Given the description of an element on the screen output the (x, y) to click on. 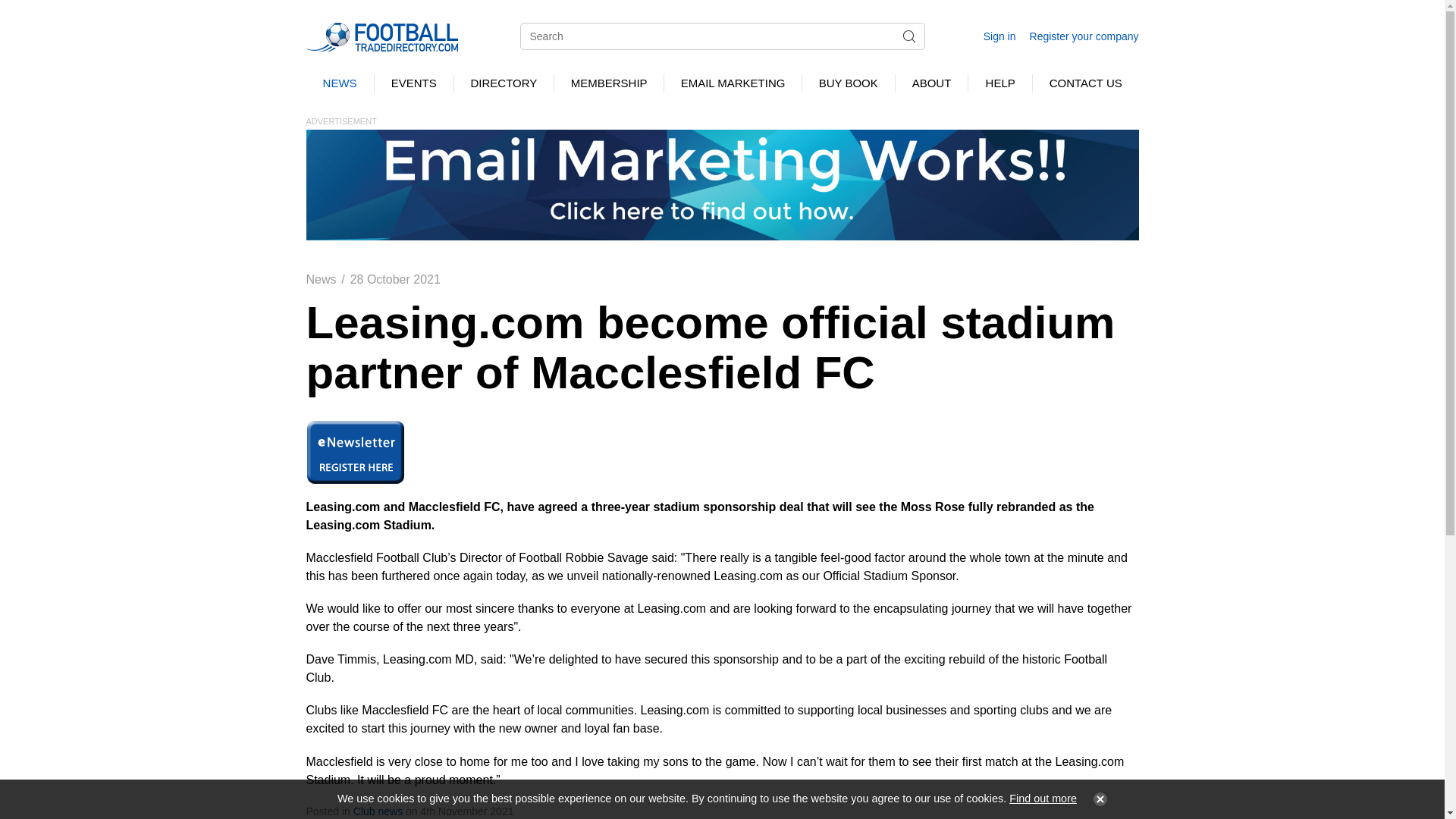
E-marketing (721, 183)
Register your company (1083, 35)
Continue (1096, 799)
NEWS (339, 83)
Search (908, 36)
EVENTS (413, 83)
DIRECTORY (503, 83)
